Given the description of an element on the screen output the (x, y) to click on. 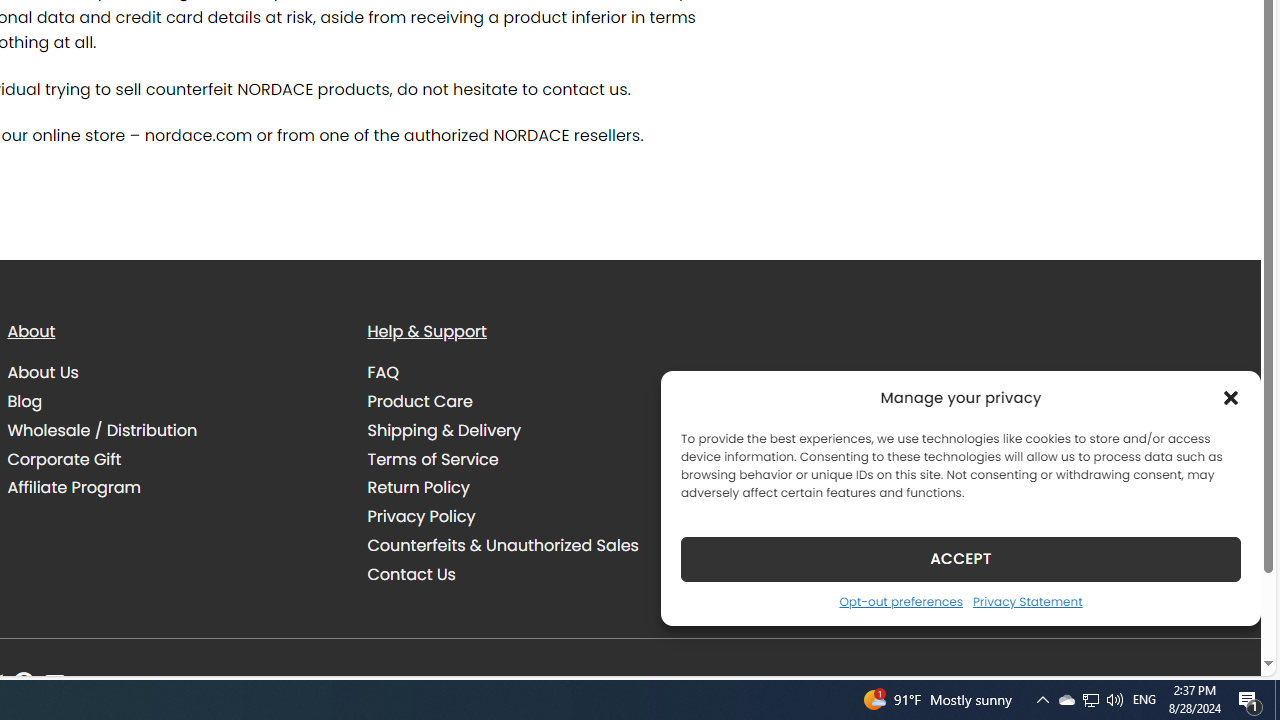
Contact Us (532, 574)
Product Care (420, 400)
ACCEPT (960, 558)
